Given the description of an element on the screen output the (x, y) to click on. 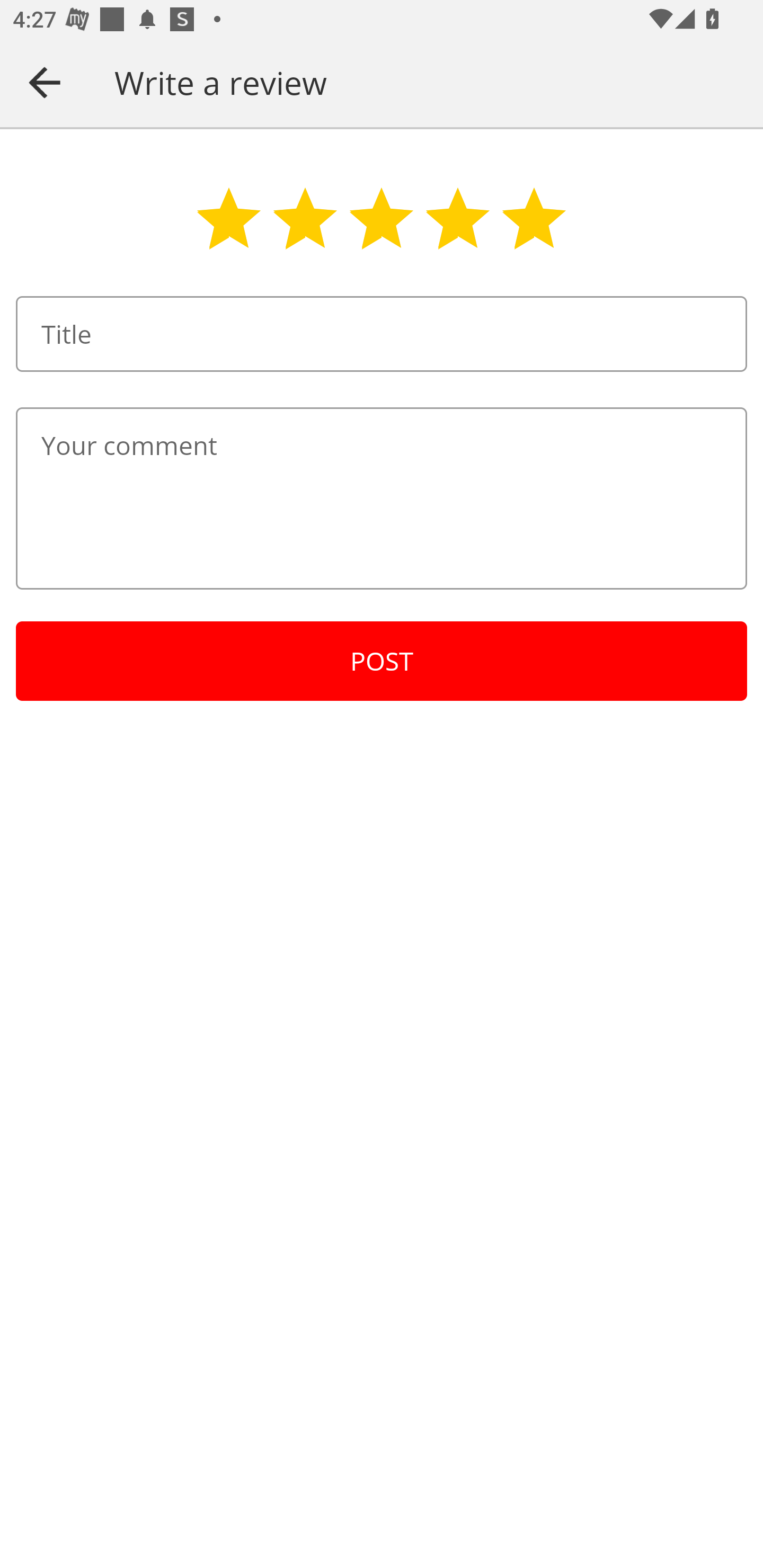
Navigate up (44, 82)
Title (381, 333)
Your comment (381, 498)
POST (381, 660)
